Given the description of an element on the screen output the (x, y) to click on. 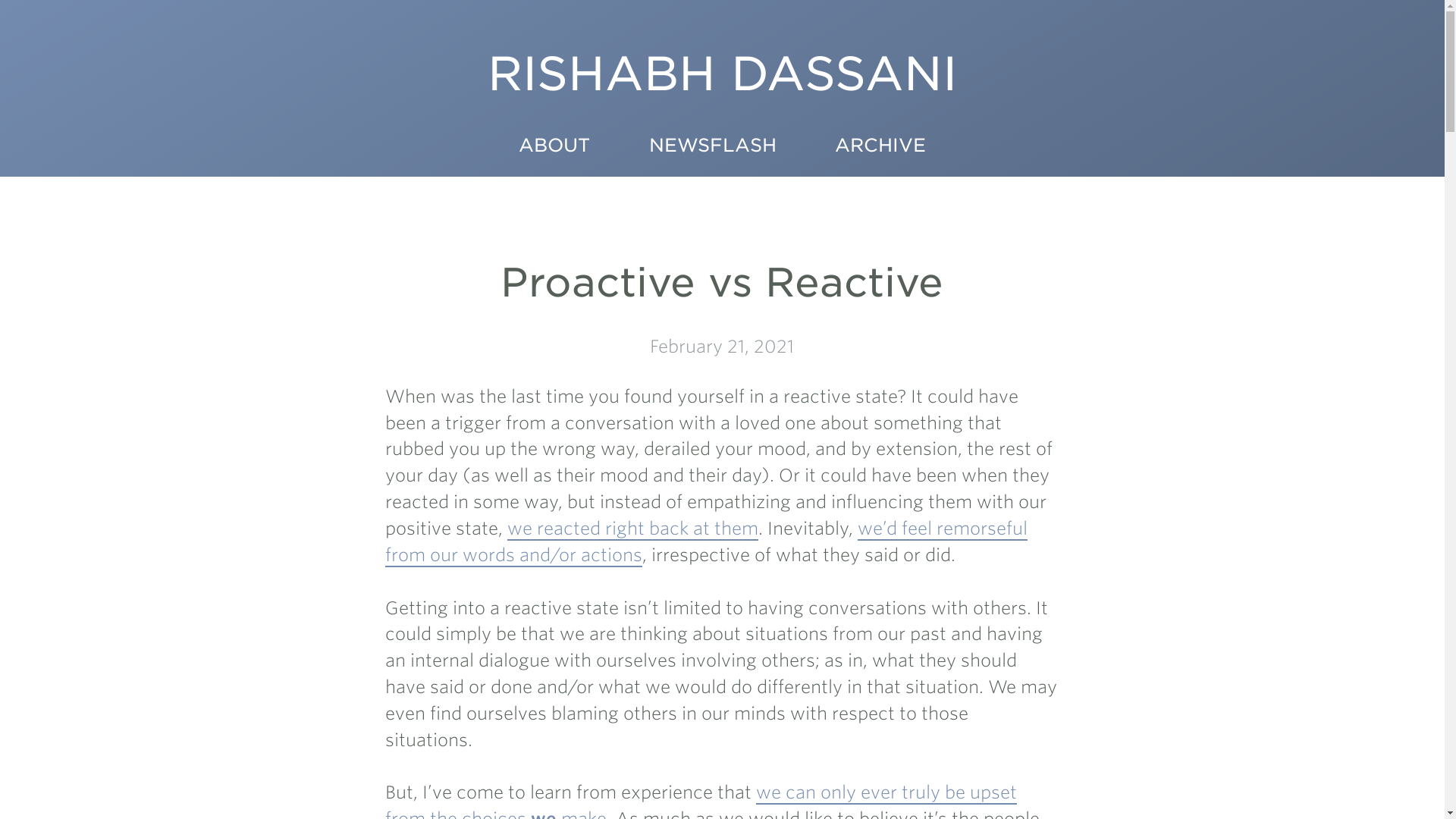
RISHABH DASSANI (721, 89)
NEWSFLASH (712, 148)
ARCHIVE (880, 148)
we can only ever truly be upset from the choices we make (700, 800)
we reacted right back at them (632, 528)
ABOUT (553, 148)
